Given the description of an element on the screen output the (x, y) to click on. 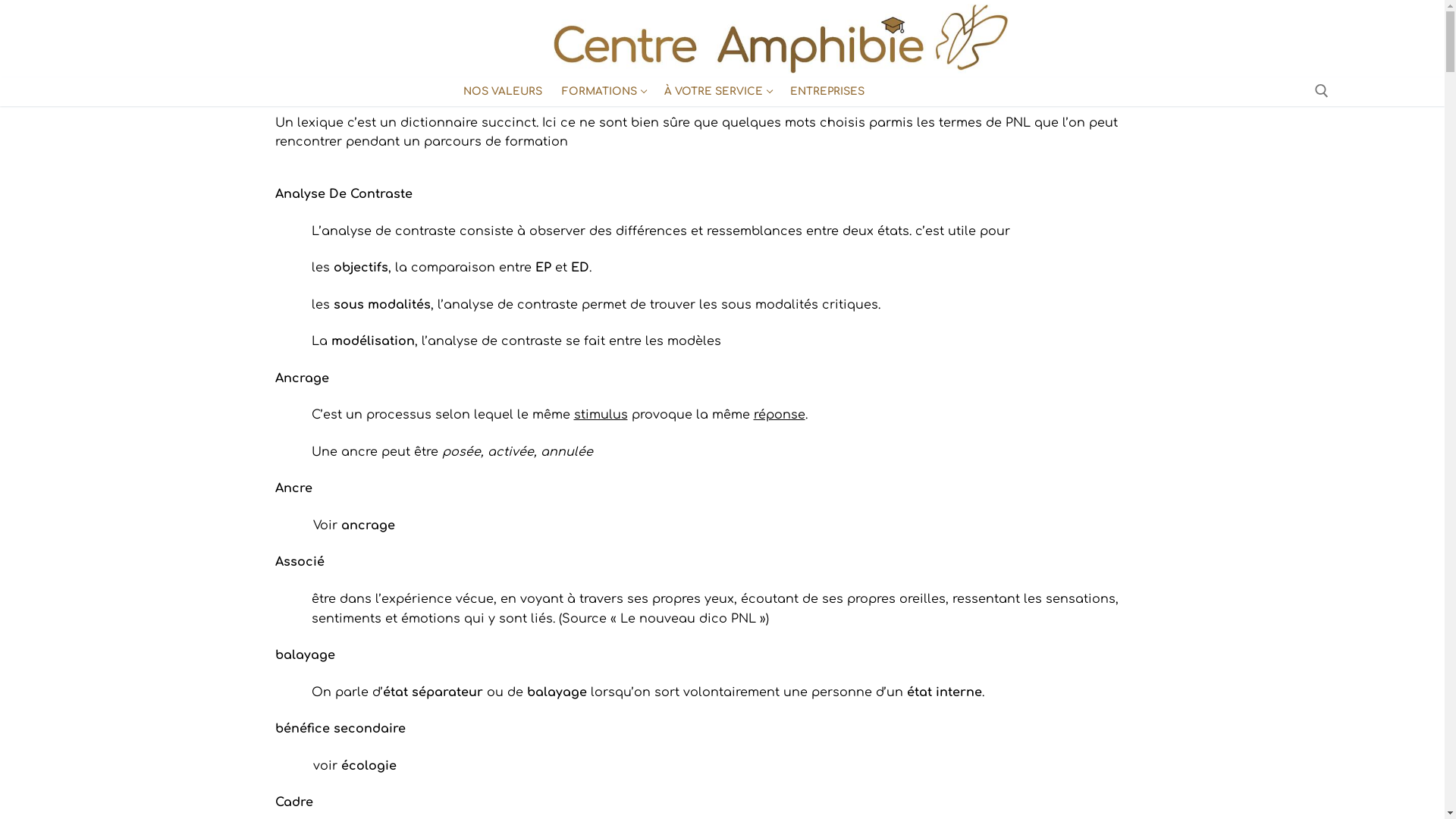
ENTREPRISES Element type: text (827, 91)
NOS VALEURS Element type: text (502, 91)
FORMATIONS
  Element type: text (603, 91)
